Given the description of an element on the screen output the (x, y) to click on. 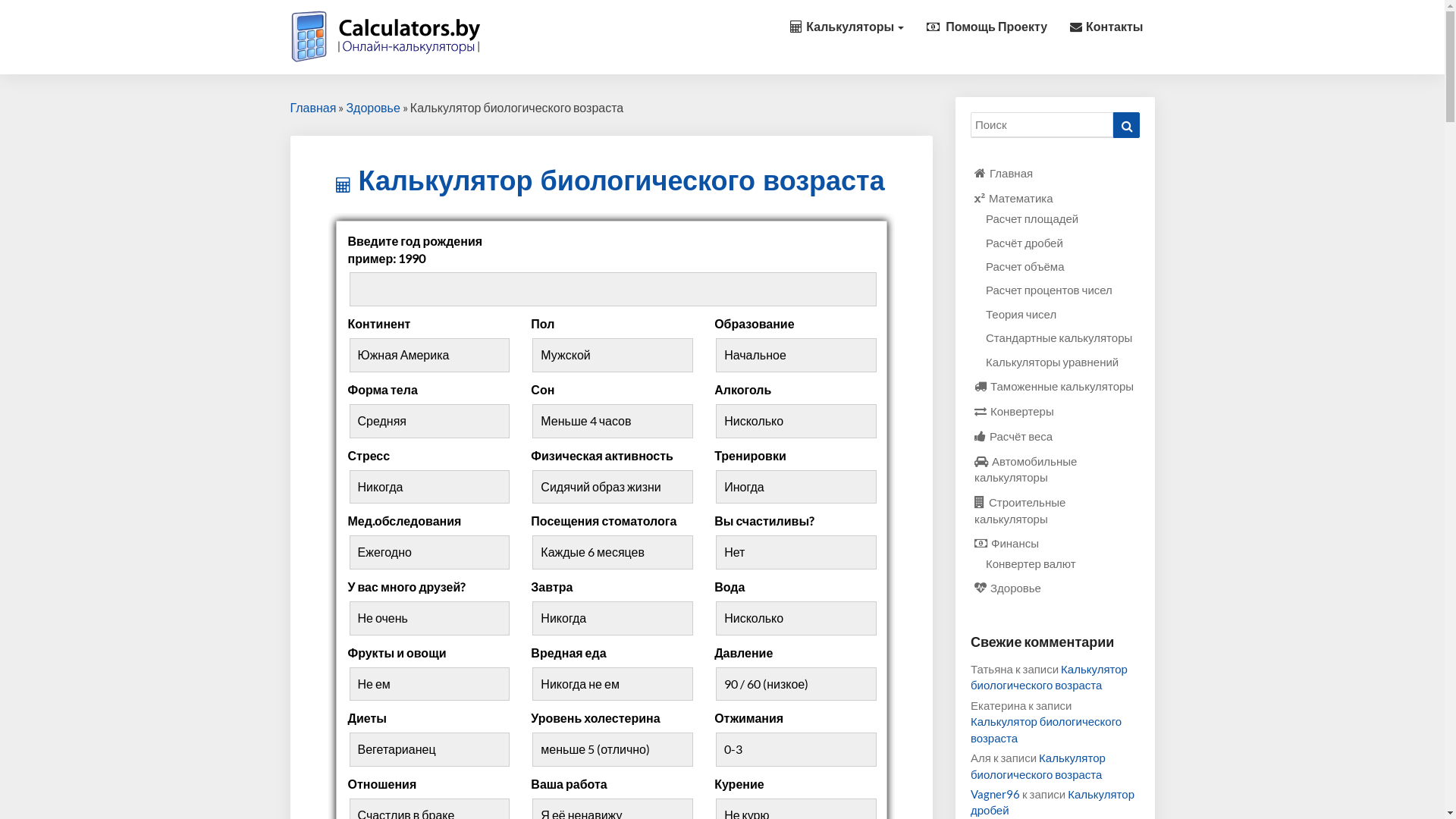
Vagner96 Element type: text (994, 793)
